Given the description of an element on the screen output the (x, y) to click on. 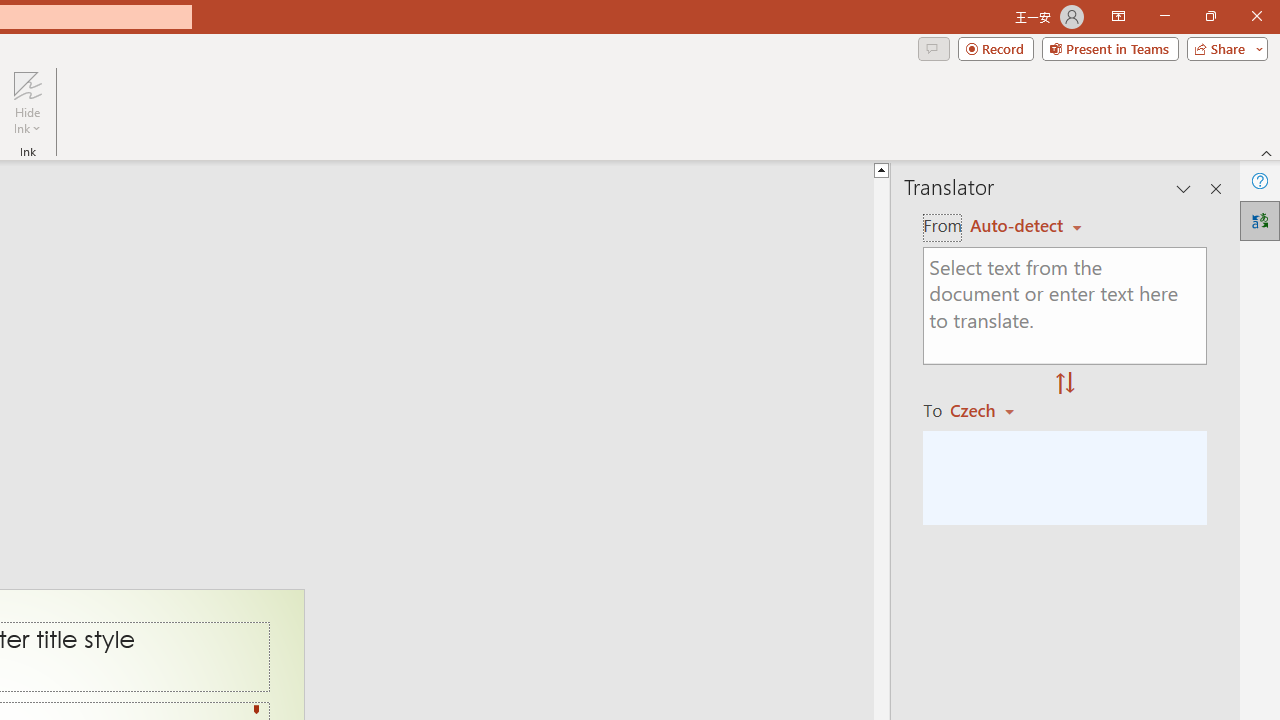
Czech (991, 409)
